Given the description of an element on the screen output the (x, y) to click on. 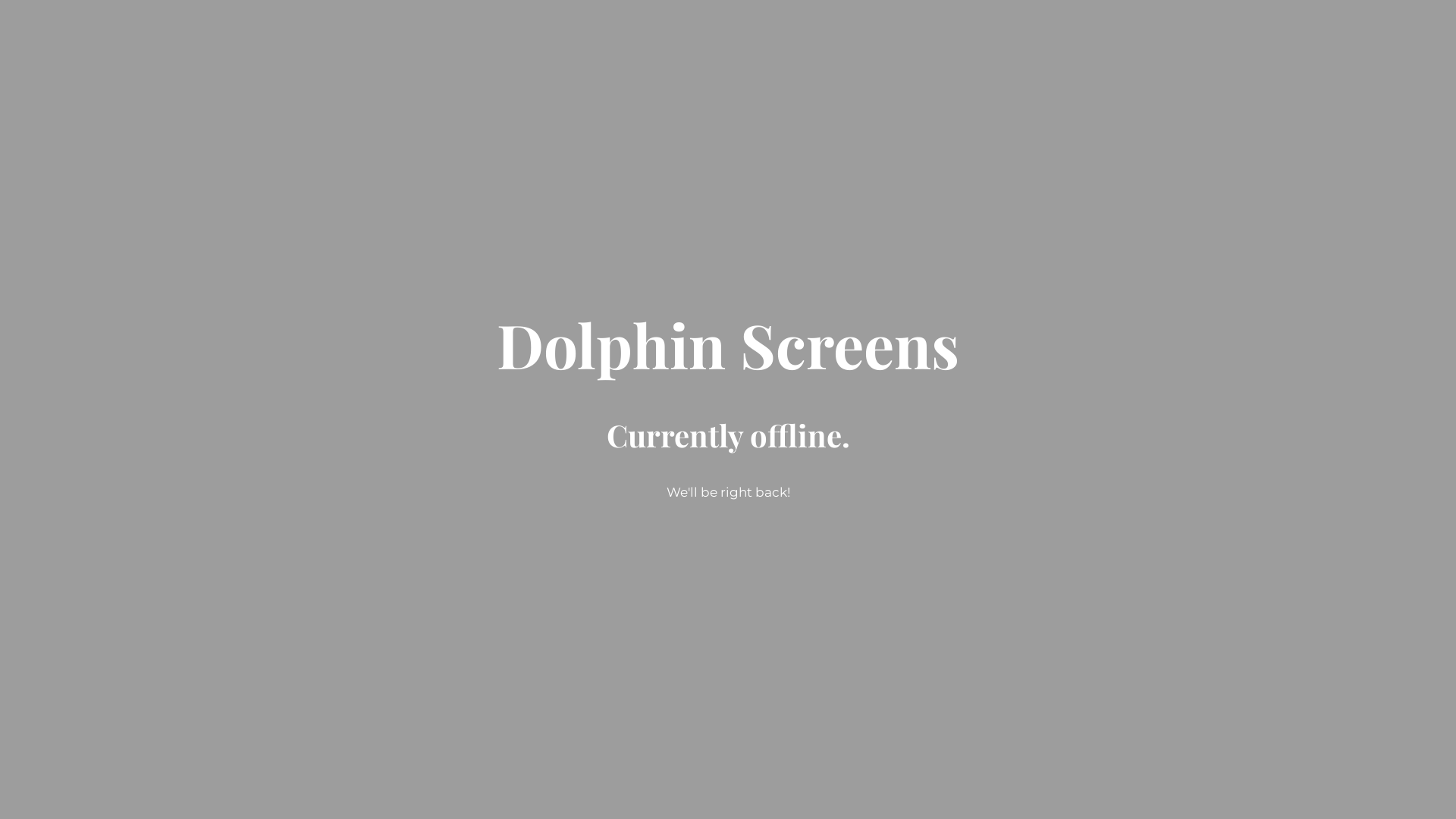
Dolphin Screens Element type: text (727, 357)
